Given the description of an element on the screen output the (x, y) to click on. 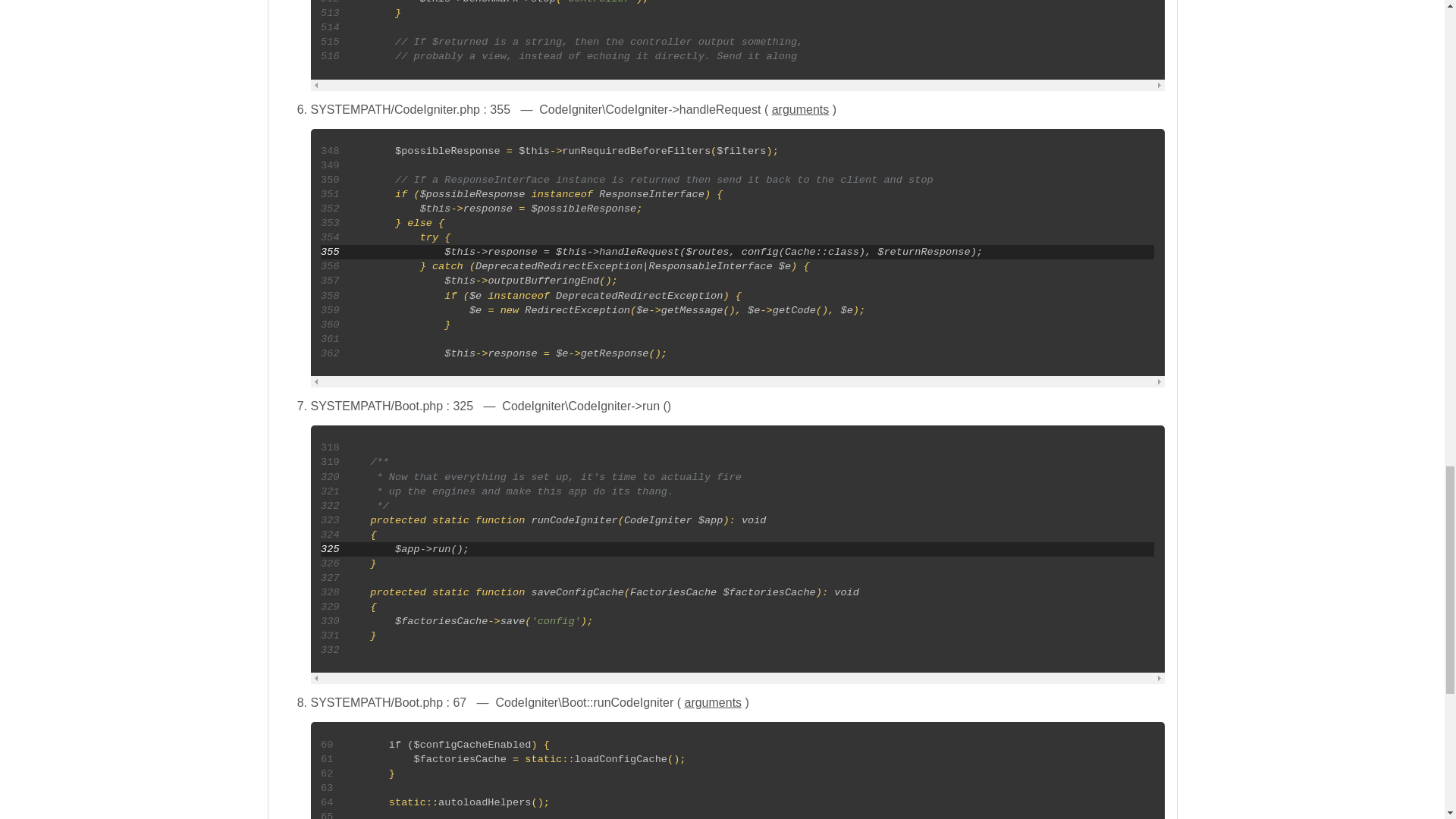
arguments (800, 109)
arguments (712, 702)
